Given the description of an element on the screen output the (x, y) to click on. 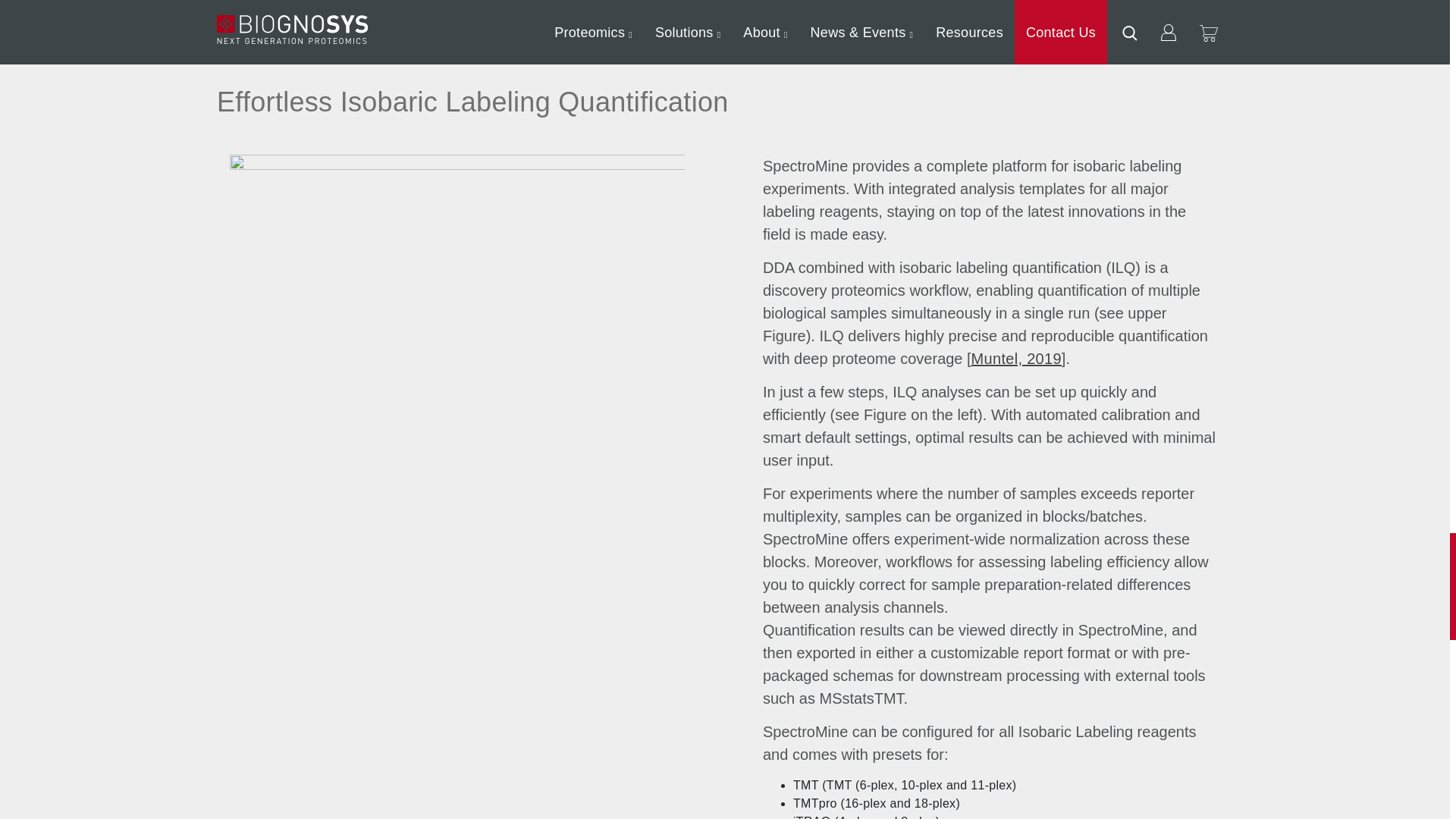
YouTube video player (457, 6)
